Given the description of an element on the screen output the (x, y) to click on. 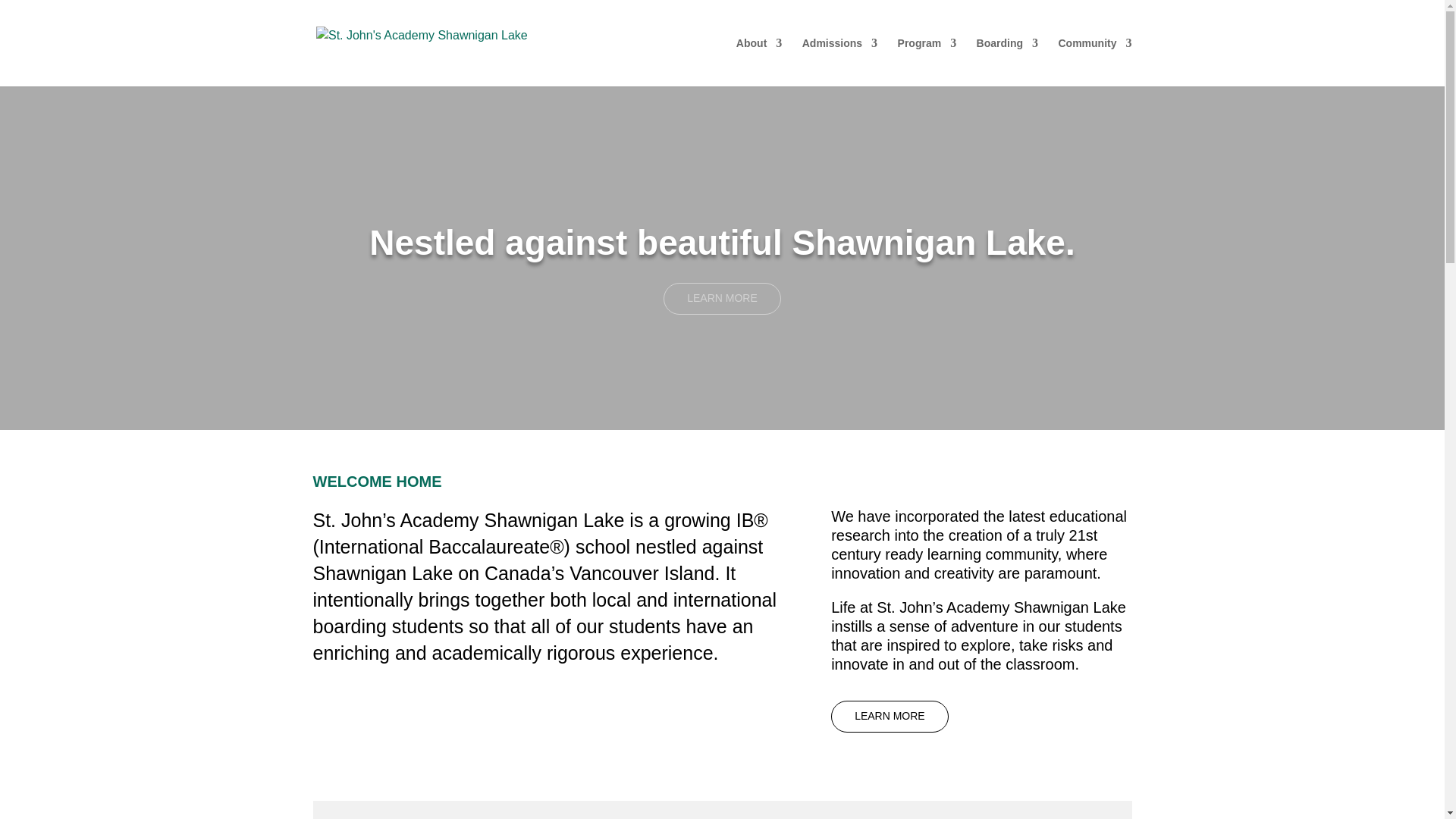
Admissions (839, 61)
LEARN MORE (721, 298)
Boarding (1007, 61)
Program (927, 61)
Community (1095, 61)
About (758, 61)
Nestled against beautiful Shawnigan Lake. (721, 242)
